Given the description of an element on the screen output the (x, y) to click on. 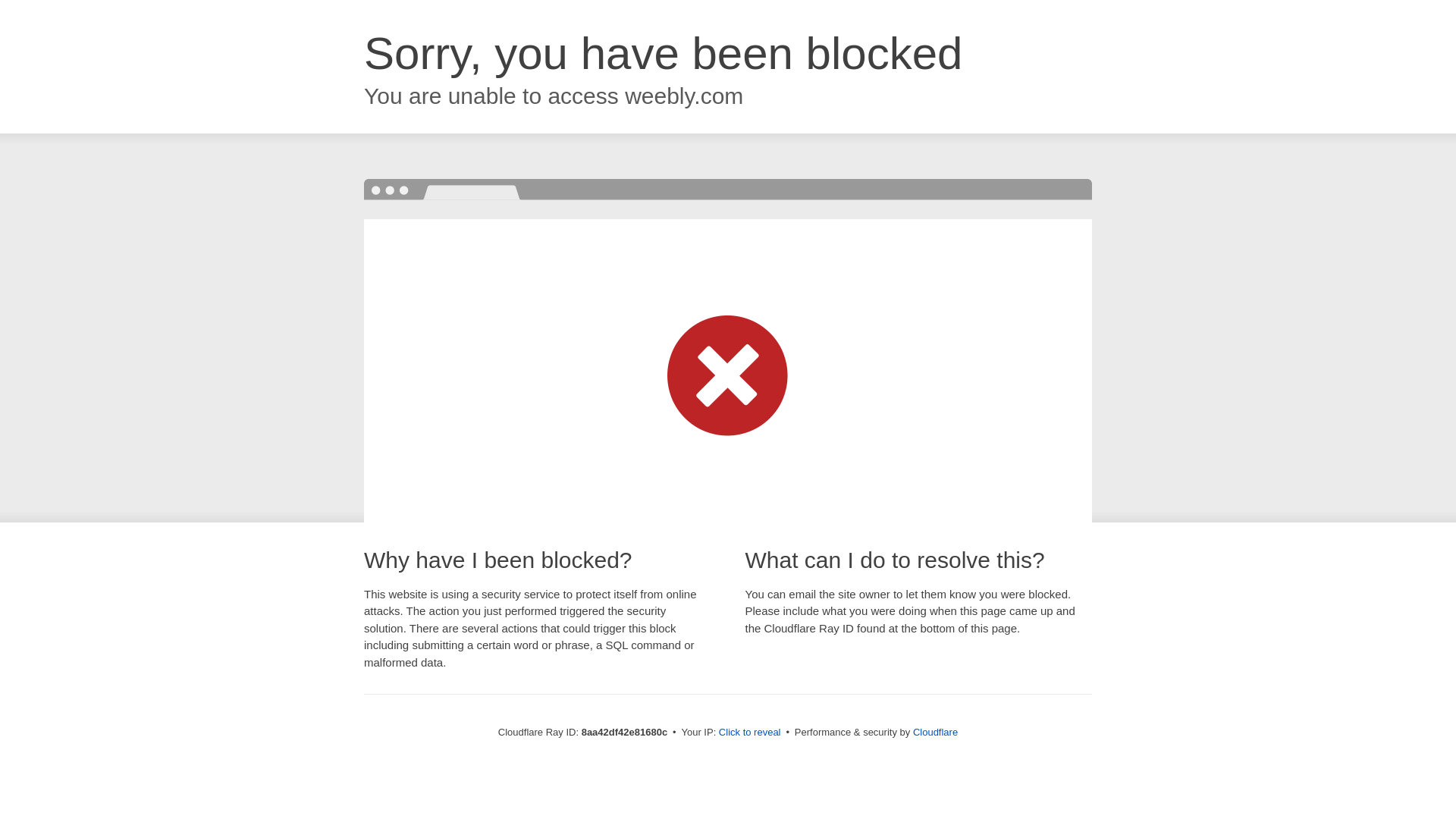
Cloudflare (935, 731)
Click to reveal (749, 732)
